Given the description of an element on the screen output the (x, y) to click on. 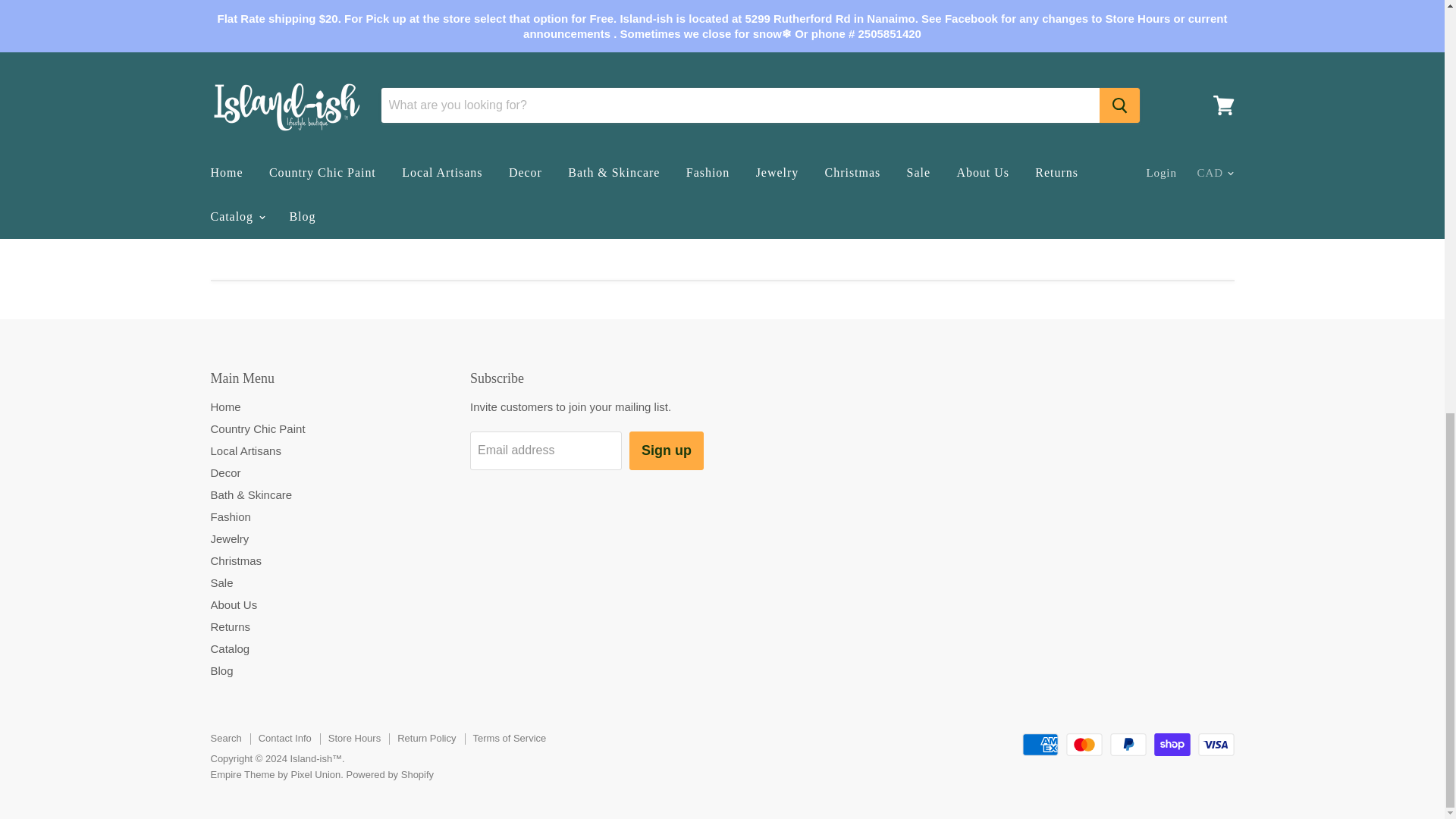
American Express (1040, 744)
Mastercard (1083, 744)
Shop Pay (1172, 744)
Visa (1216, 744)
PayPal (1128, 744)
